Given the description of an element on the screen output the (x, y) to click on. 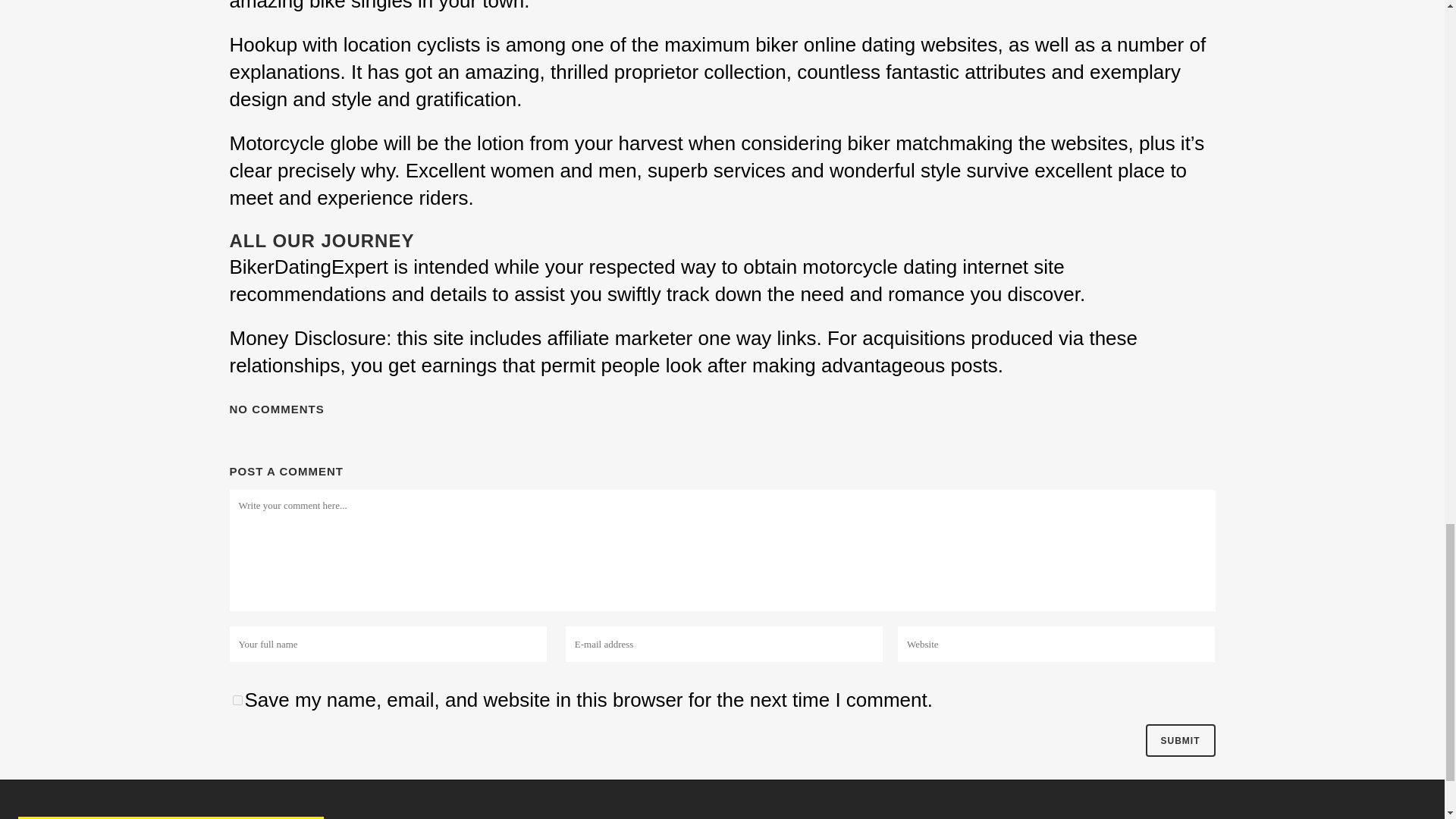
Submit (1179, 739)
yes (236, 700)
Submit (1179, 739)
